Given the description of an element on the screen output the (x, y) to click on. 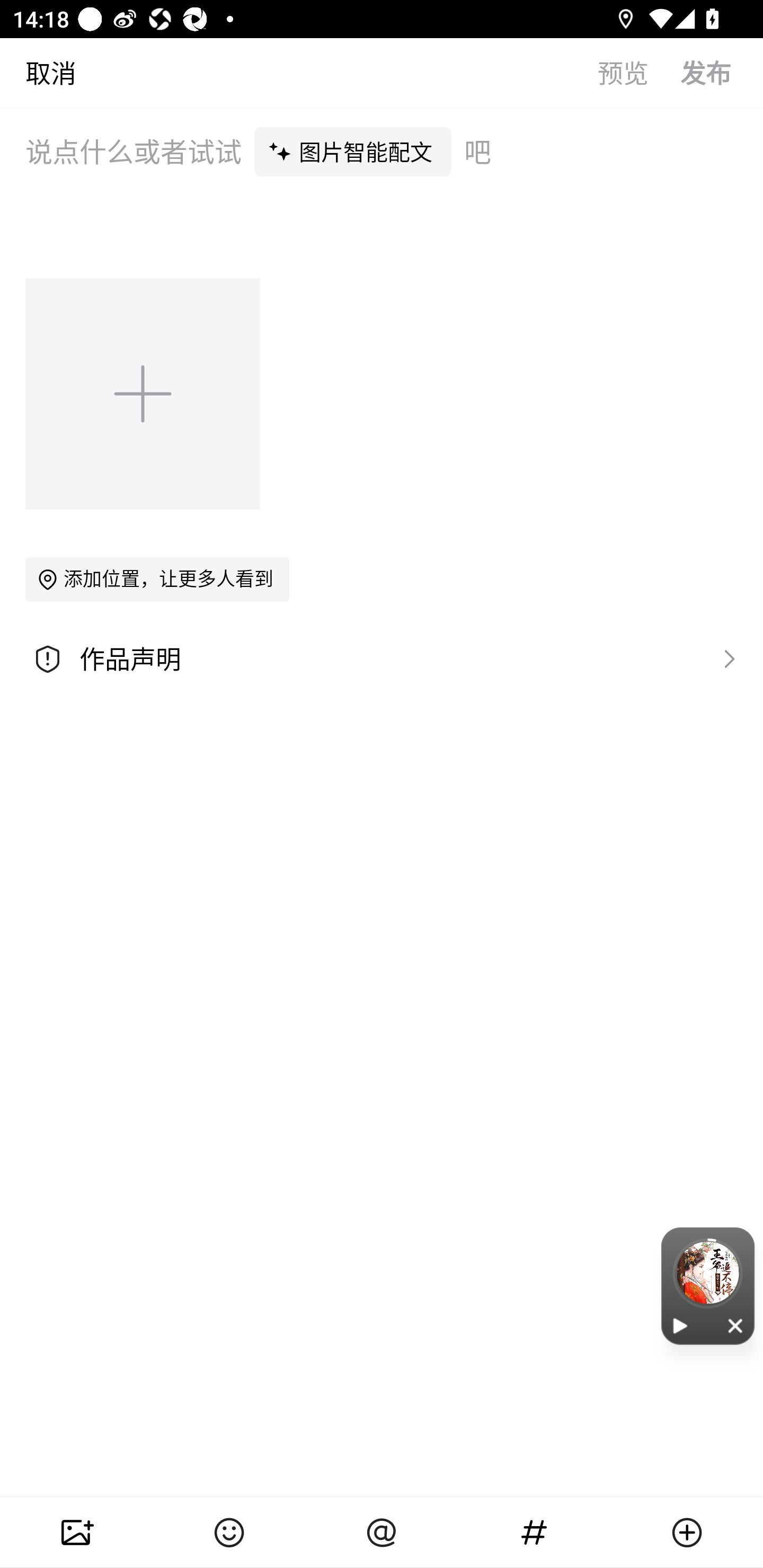
取消 (38, 71)
预览 (638, 71)
发布 (721, 71)
图片智能配文 (352, 151)
添加图片 (144, 393)
添加位置，让更多人看到 (157, 579)
作品声明 高级设置 作品声明 高级设置 (381, 658)
高级设置 (724, 658)
播放 关闭 (708, 1286)
播放 (680, 1325)
关闭 (736, 1325)
相册 (76, 1532)
表情 (228, 1532)
at (381, 1532)
话题 (533, 1532)
更多 (686, 1532)
